Given the description of an element on the screen output the (x, y) to click on. 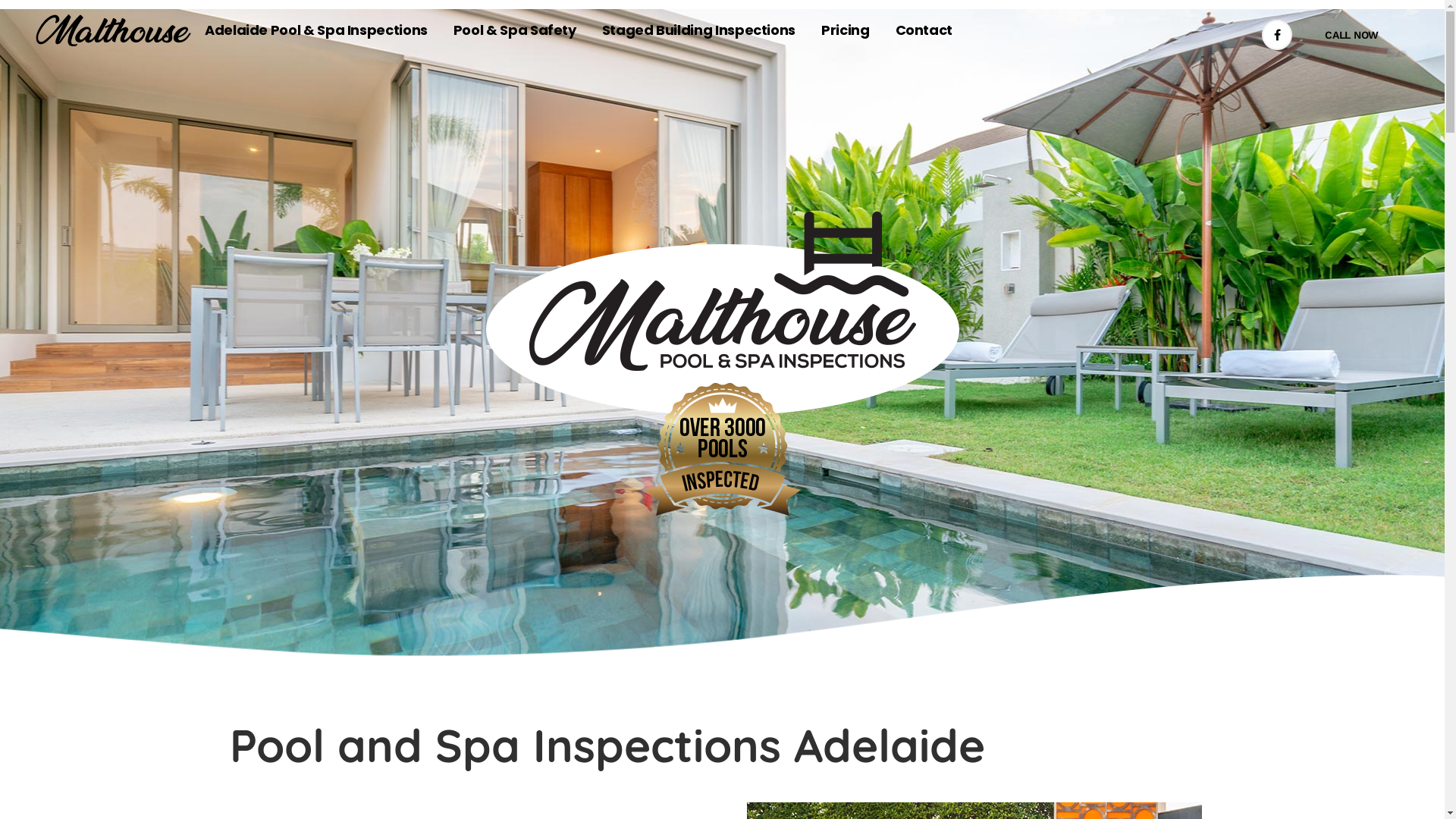
Contact Element type: text (923, 30)
Staged Building Inspections Element type: text (698, 30)
Pool & Spa Safety Element type: text (514, 30)
Adelaide Pool & Spa Inspections Element type: text (315, 30)
CALL NOW Element type: text (1351, 35)
Pricing Element type: text (844, 30)
